Given the description of an element on the screen output the (x, y) to click on. 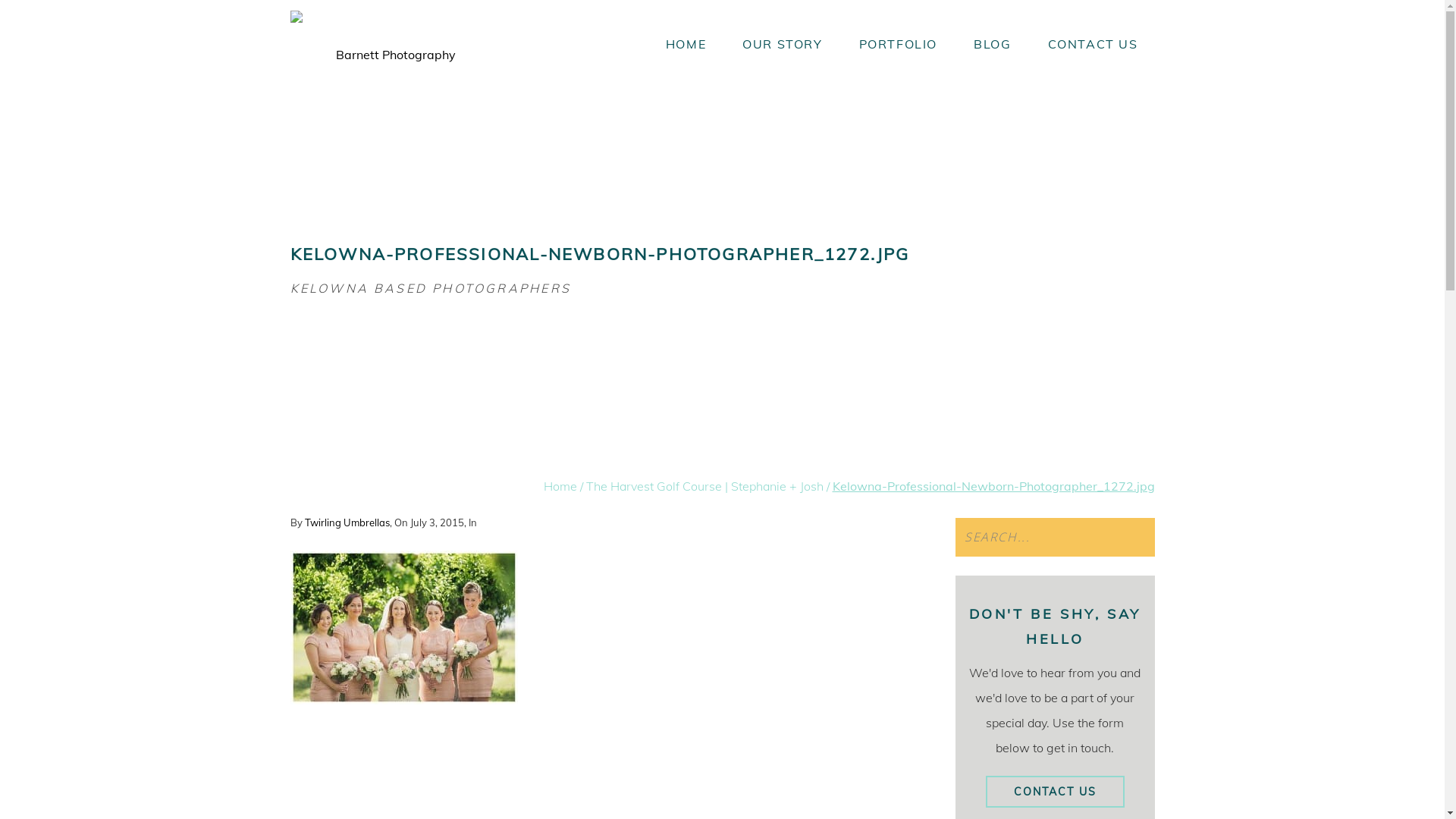
CONTACT US Element type: text (1054, 791)
The Harvest Golf Course | Stephanie + Josh Element type: text (703, 485)
Home Element type: text (559, 485)
OUR STORY Element type: text (781, 43)
CONTACT US Element type: text (1092, 43)
PORTFOLIO Element type: text (897, 43)
BLOG Element type: text (992, 43)
Barnett Photography Element type: hover (389, 35)
HOME Element type: text (685, 43)
Twirling Umbrellas Element type: text (346, 522)
